Given the description of an element on the screen output the (x, y) to click on. 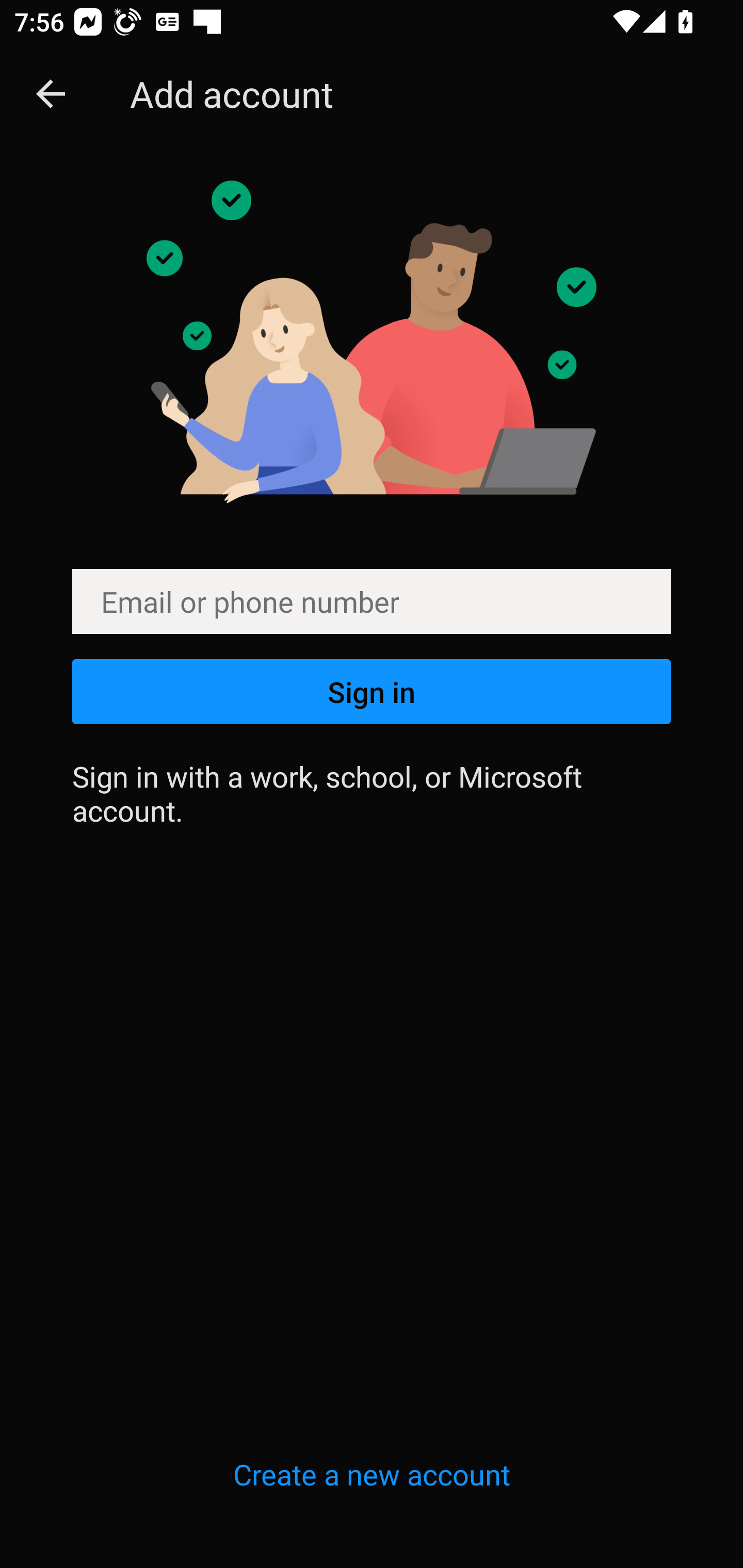
Navigate up (50, 93)
Email or phone number (371, 601)
Sign in (371, 691)
Create a new account (371, 1473)
